Given the description of an element on the screen output the (x, y) to click on. 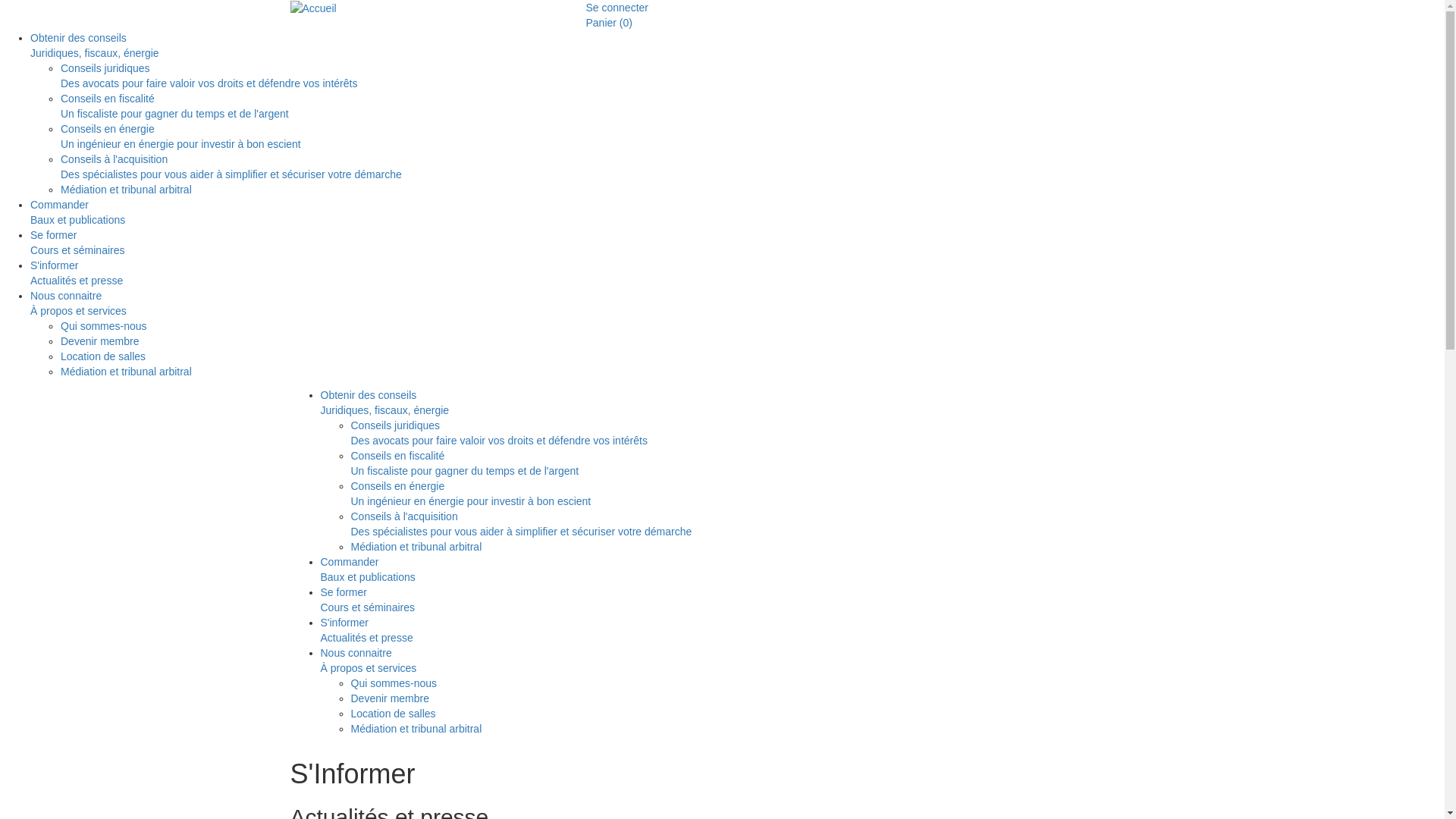
Commander
Baux et publications Element type: text (737, 569)
Qui sommes-nous Element type: text (752, 325)
Location de salles Element type: text (752, 713)
Panier (0) Element type: text (608, 22)
Accueil Element type: hover (312, 7)
Commander
Baux et publications Element type: text (737, 212)
Se connecter Element type: text (616, 7)
Qui sommes-nous Element type: text (752, 682)
Devenir membre Element type: text (752, 698)
Devenir membre Element type: text (752, 340)
Location de salles Element type: text (752, 356)
